Given the description of an element on the screen output the (x, y) to click on. 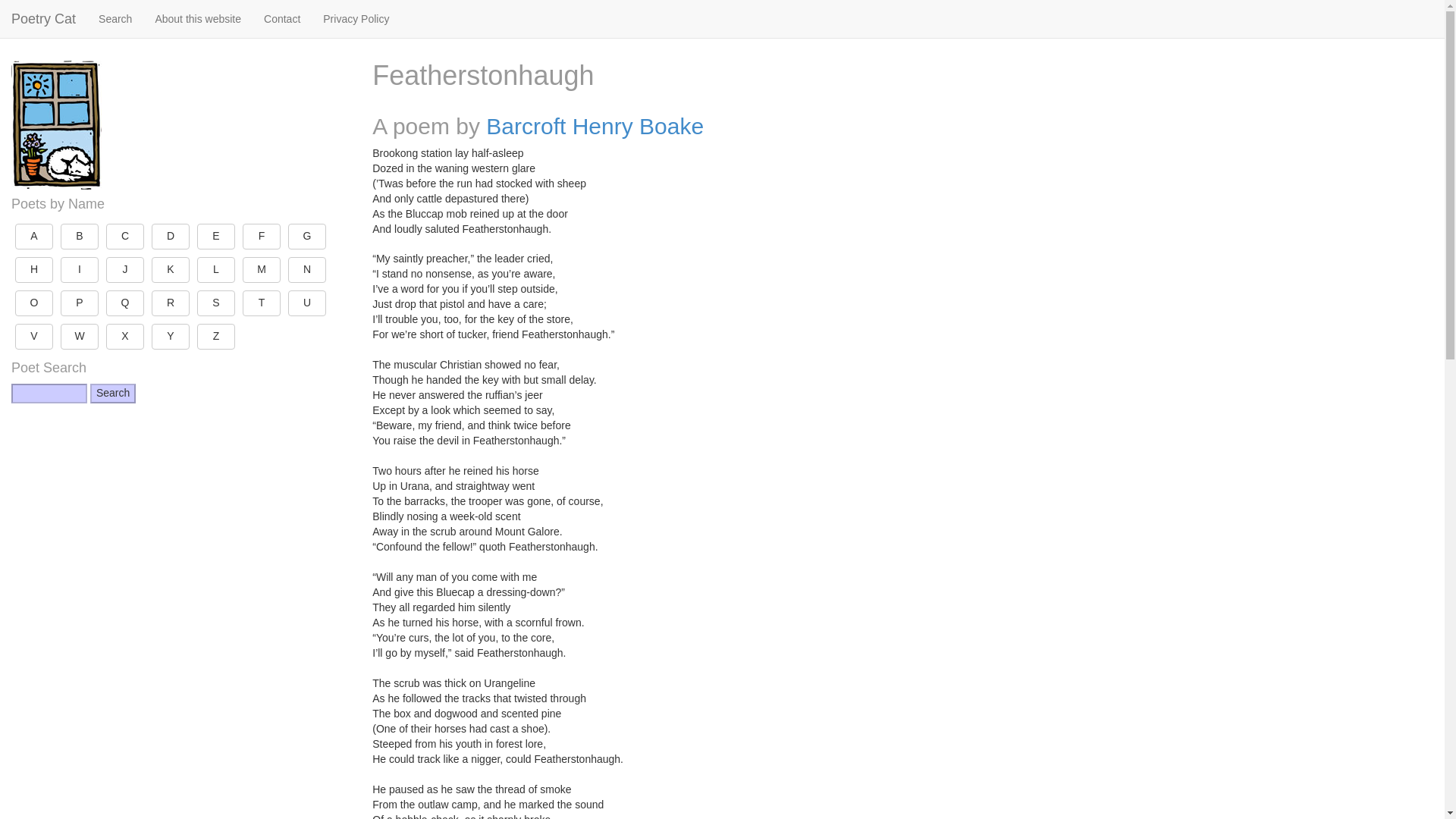
Z (215, 336)
T (262, 303)
Search (114, 18)
M (262, 269)
D (170, 236)
Y (170, 336)
W (80, 336)
G (307, 236)
Search (112, 393)
About this website (196, 18)
